Given the description of an element on the screen output the (x, y) to click on. 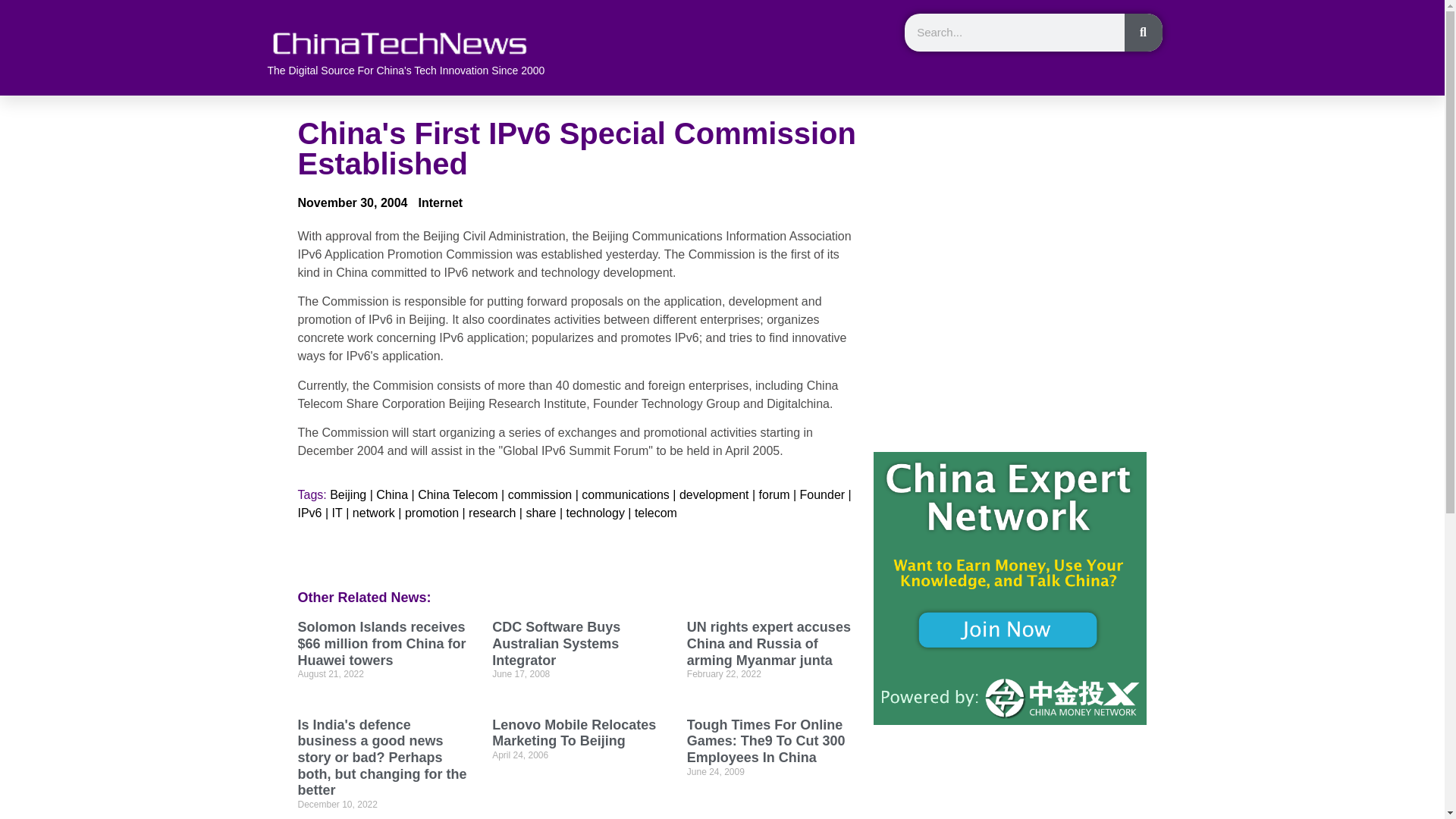
development (714, 495)
promotion (431, 513)
commission (540, 495)
forum (774, 495)
telecom (655, 513)
China (391, 495)
Founder (822, 495)
technology (595, 513)
Advertisement (1010, 223)
IPv6 (309, 513)
Lenovo Mobile Relocates Marketing To Beijing (574, 733)
China Telecom (457, 495)
